Given the description of an element on the screen output the (x, y) to click on. 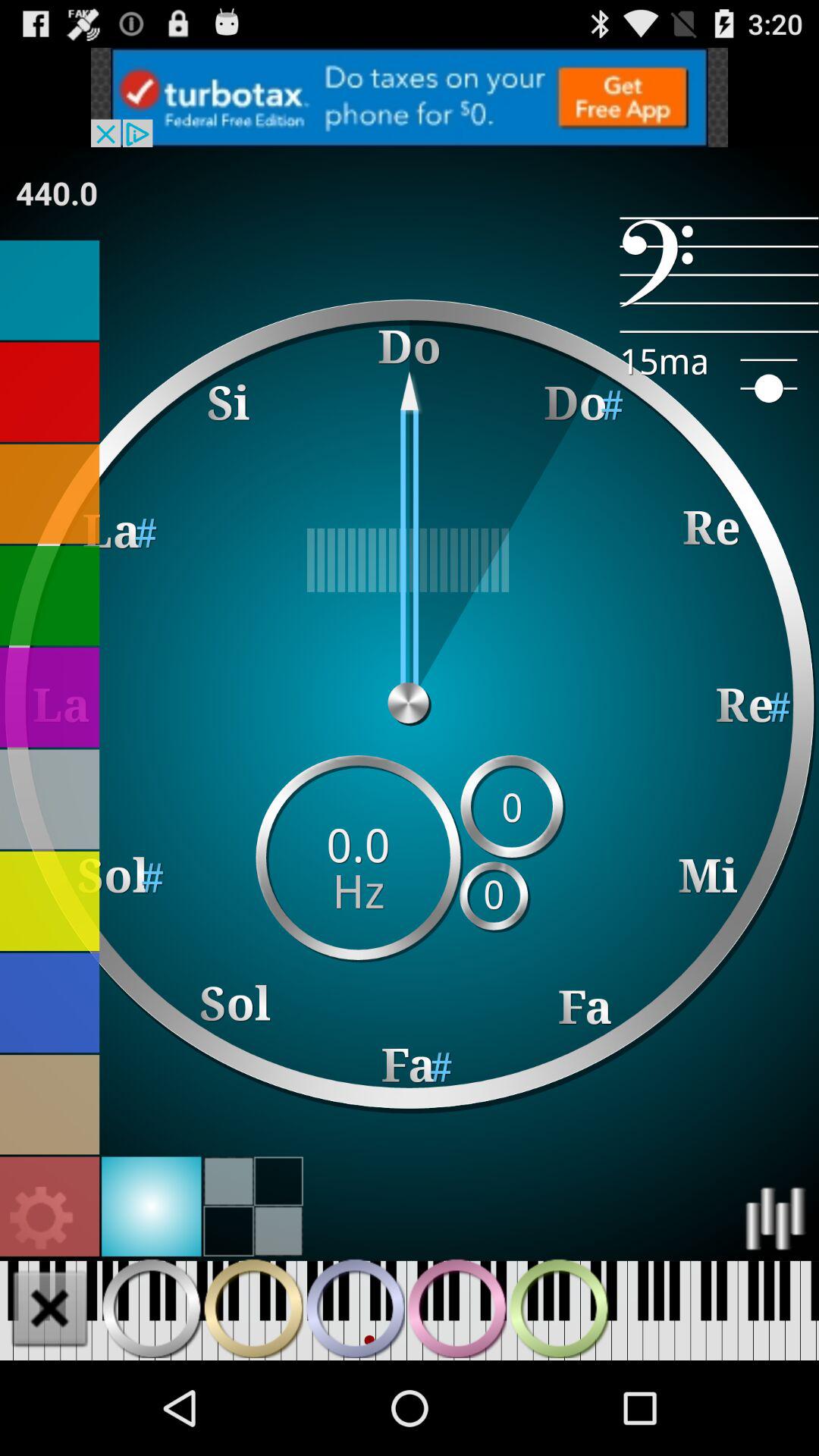
chord pattern (151, 1308)
